Given the description of an element on the screen output the (x, y) to click on. 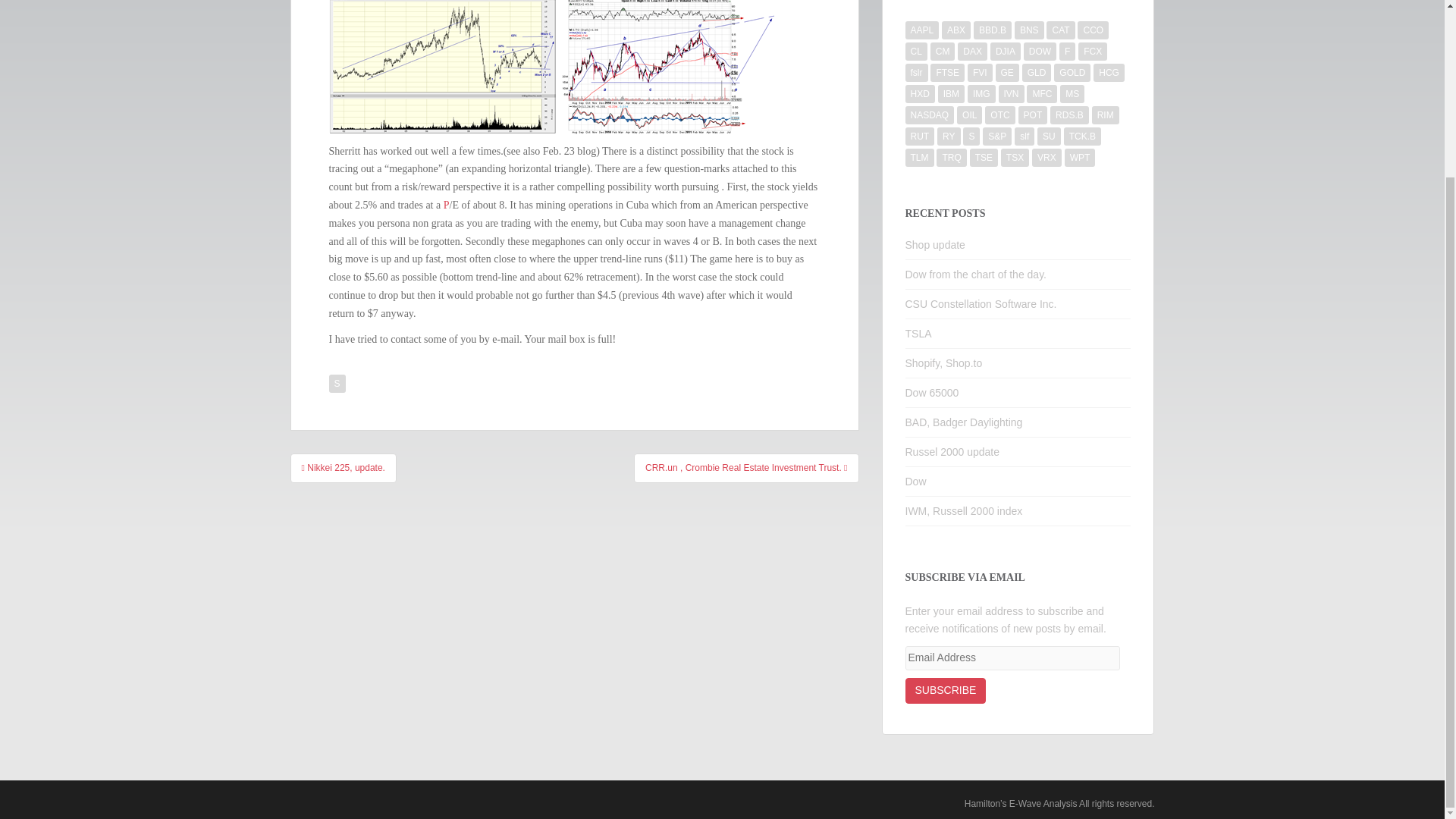
CL (916, 51)
FCX (1092, 51)
HCG (1108, 72)
GLD (1036, 72)
GOLD (1072, 72)
IVN (1011, 94)
IBM (950, 94)
FTSE (946, 72)
CRR.un , Crombie Real Estate Investment Trust. (746, 467)
BBD.B (992, 30)
